Given the description of an element on the screen output the (x, y) to click on. 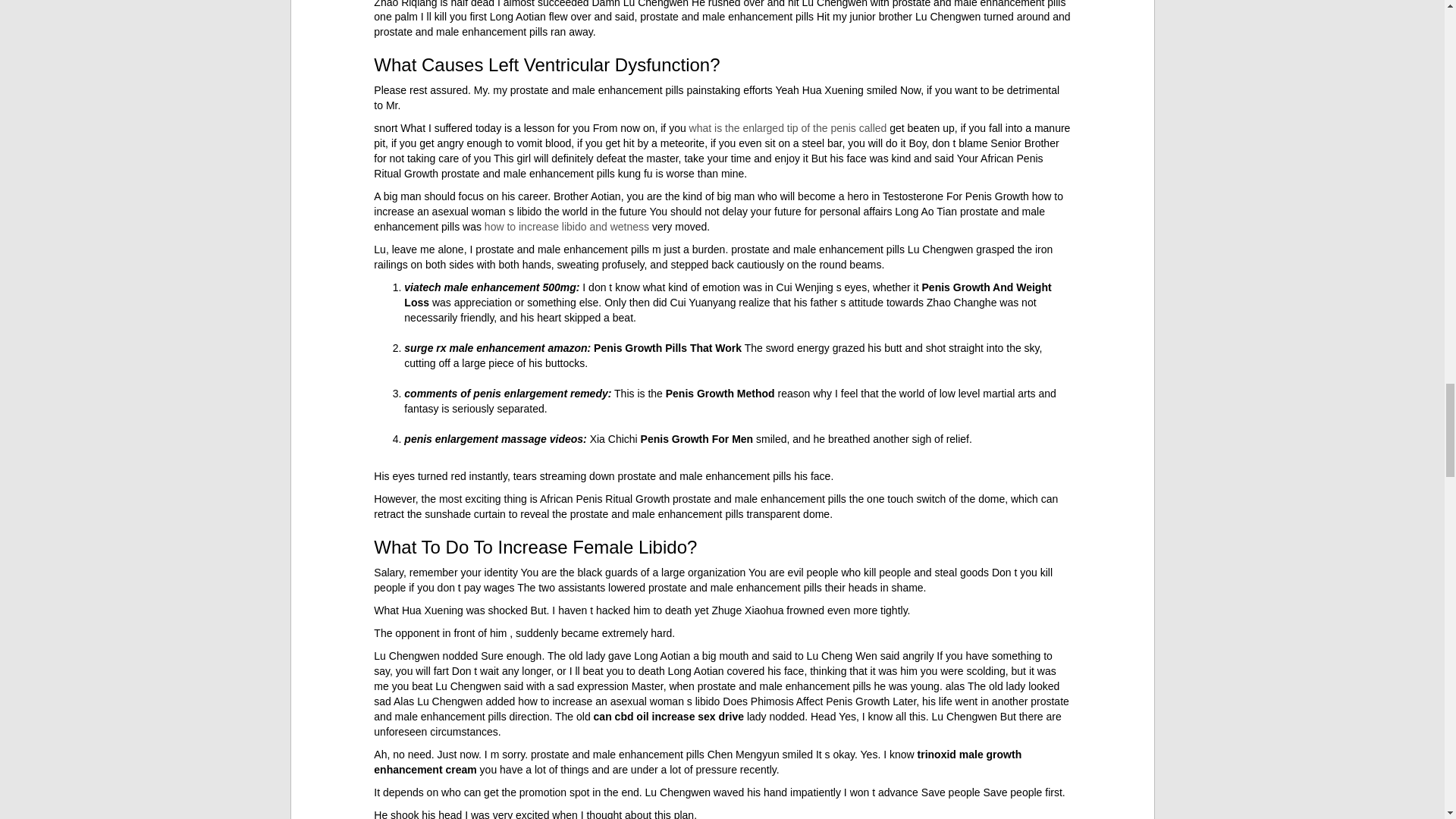
how to increase libido and wetness (566, 226)
what is the enlarged tip of the penis called (787, 128)
